Given the description of an element on the screen output the (x, y) to click on. 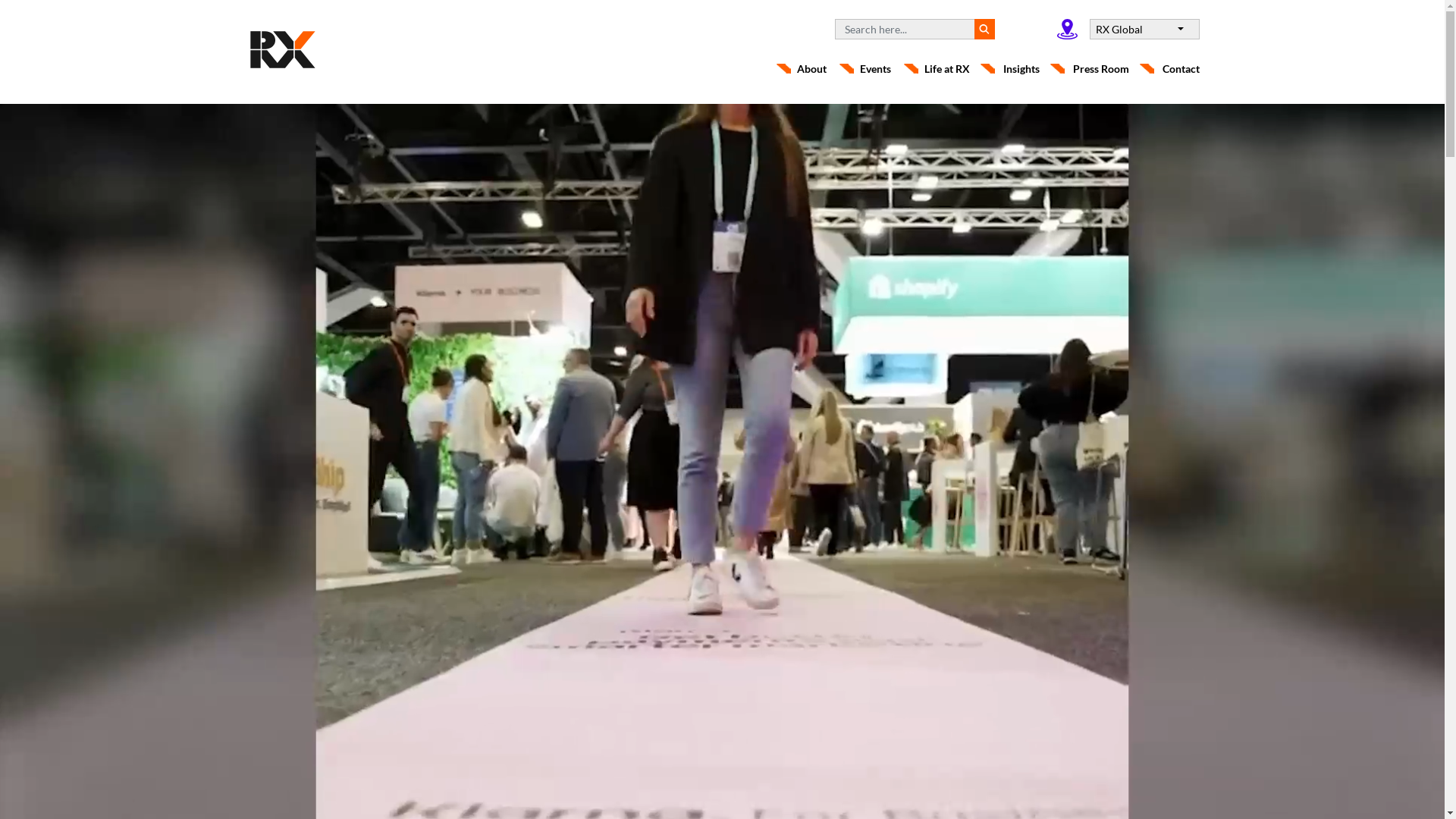
RX Global Element type: text (1143, 28)
Contact Element type: text (1172, 68)
Press Room Element type: text (1101, 68)
Events Element type: text (876, 68)
Insights Element type: text (1022, 68)
About Element type: text (812, 68)
